Given the description of an element on the screen output the (x, y) to click on. 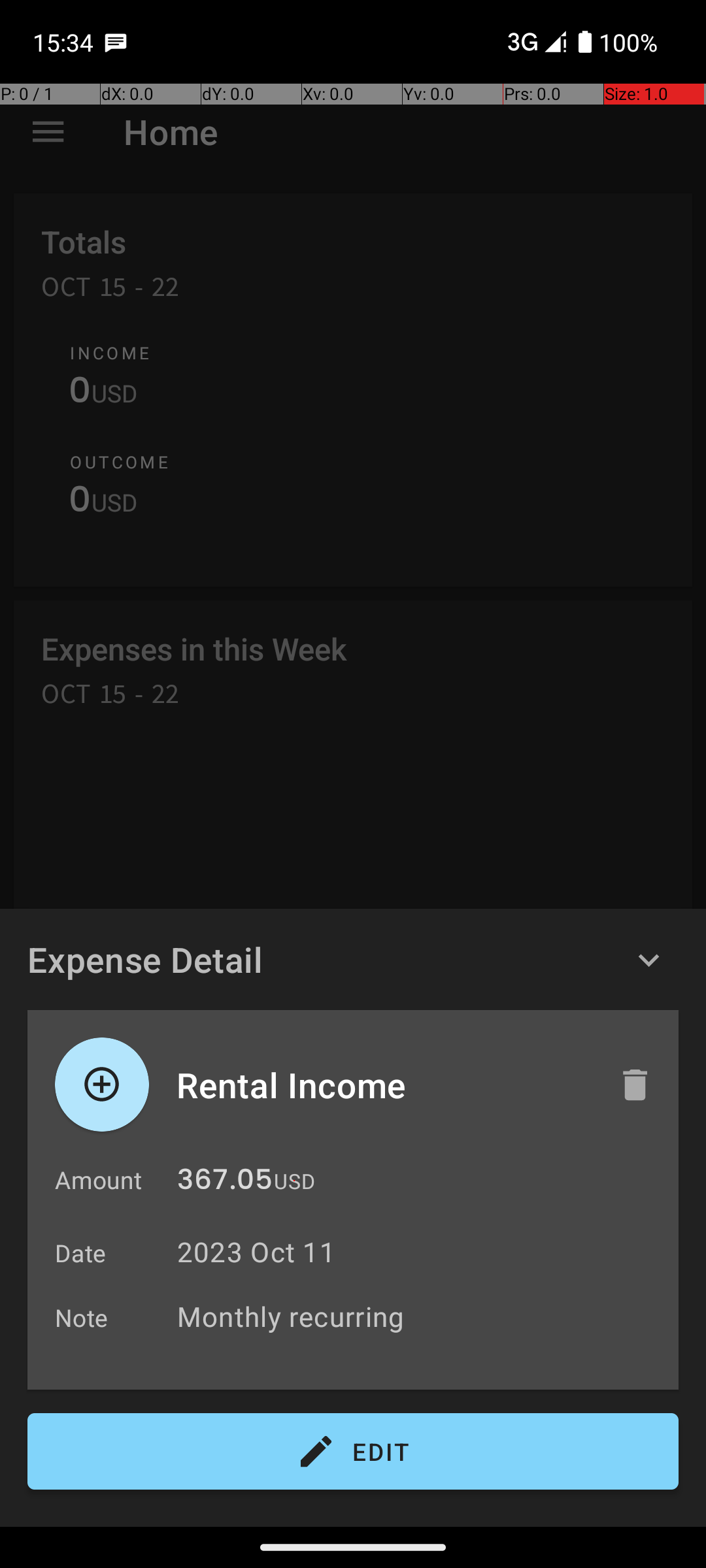
Rental Income Element type: android.widget.TextView (383, 1084)
367.05 Element type: android.widget.TextView (224, 1182)
Monthly recurring Element type: android.widget.TextView (420, 1315)
